Given the description of an element on the screen output the (x, y) to click on. 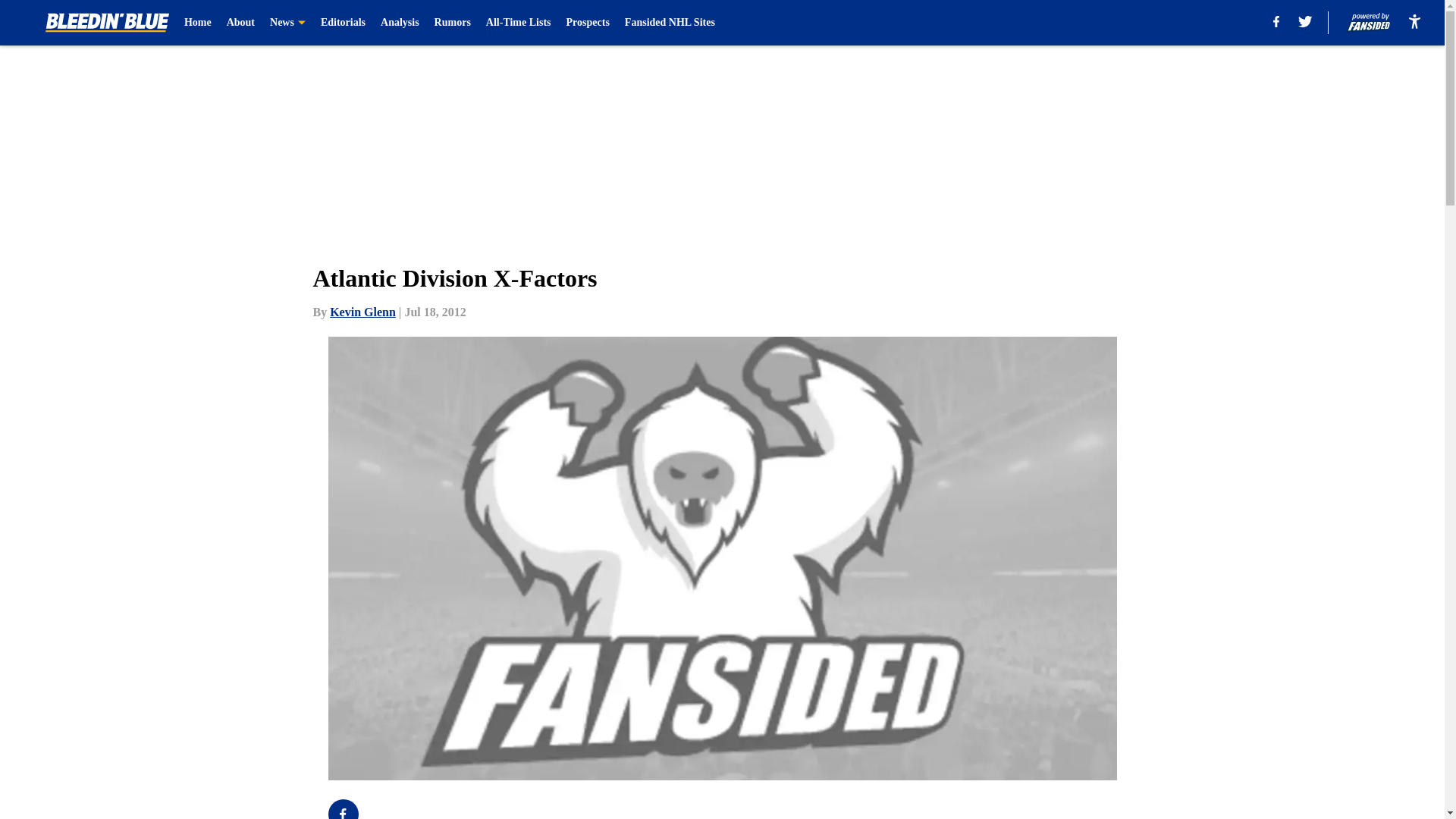
Analysis (399, 22)
Rumors (451, 22)
All-Time Lists (518, 22)
Kevin Glenn (363, 311)
About (240, 22)
Editorials (342, 22)
Home (197, 22)
Prospects (588, 22)
Fansided NHL Sites (669, 22)
